Given the description of an element on the screen output the (x, y) to click on. 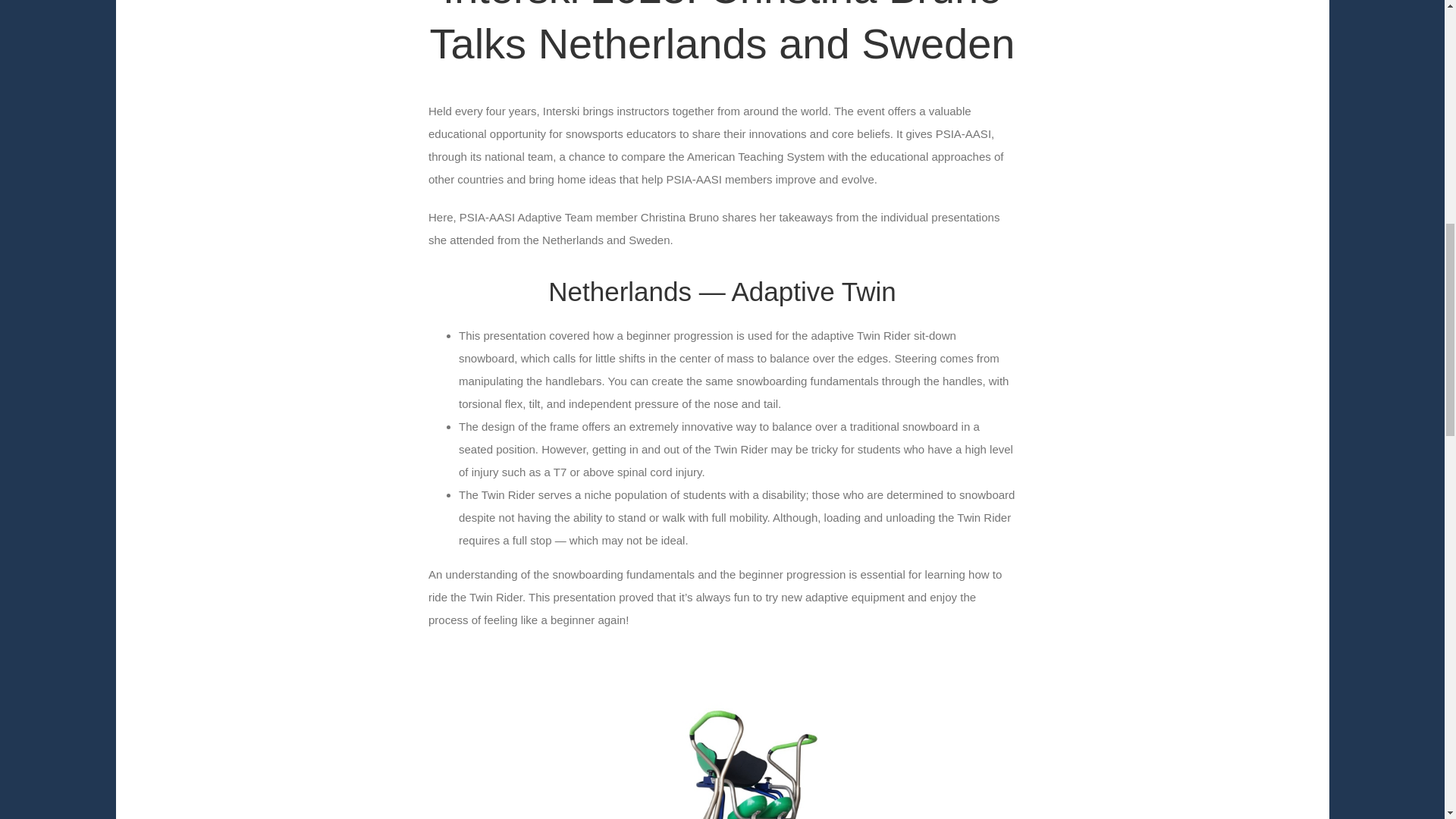
Twin Rider Adaptive Snowboard (721, 742)
